Given the description of an element on the screen output the (x, y) to click on. 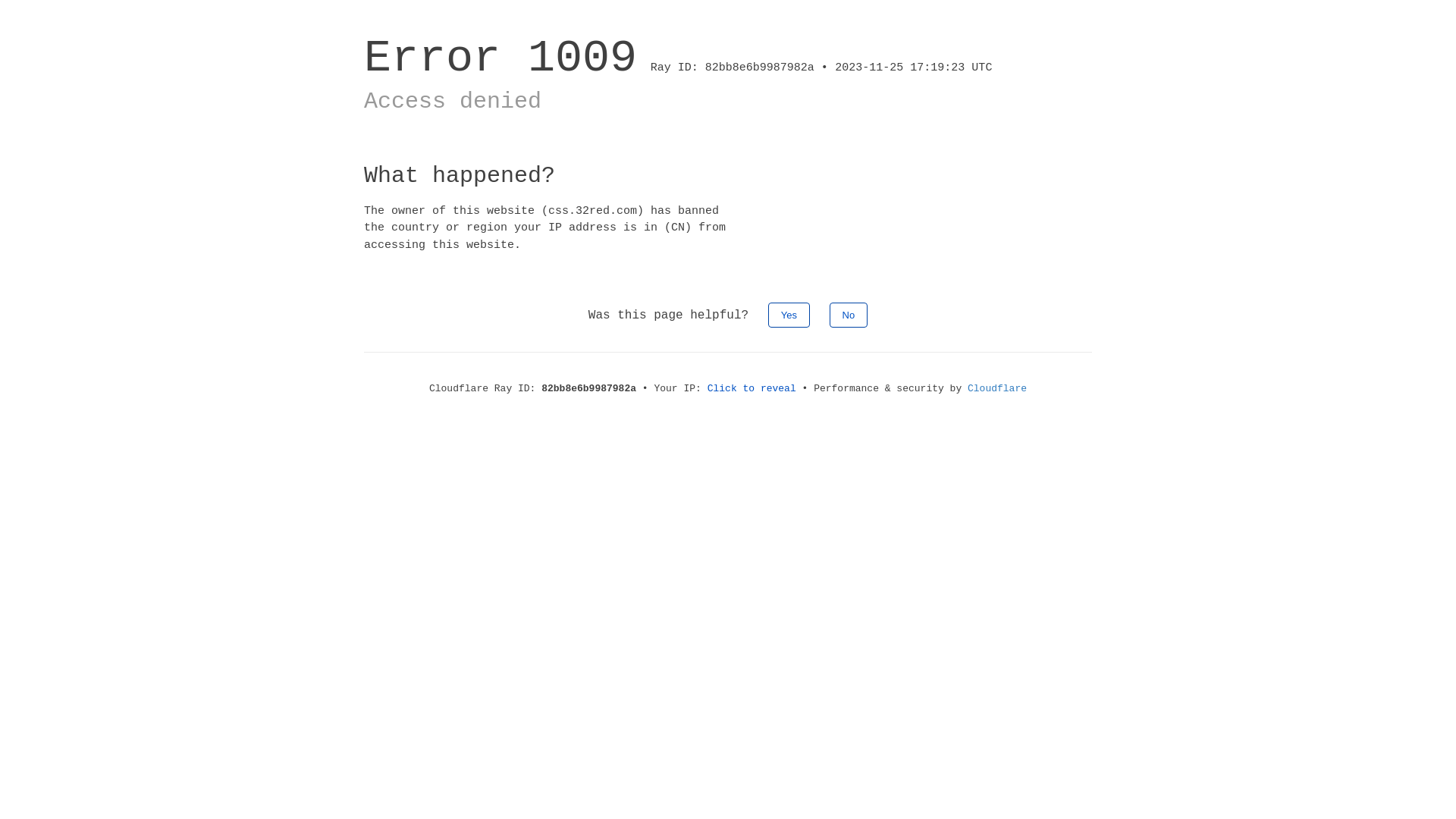
Cloudflare Element type: text (996, 388)
Click to reveal Element type: text (751, 388)
Yes Element type: text (788, 314)
No Element type: text (848, 314)
